Given the description of an element on the screen output the (x, y) to click on. 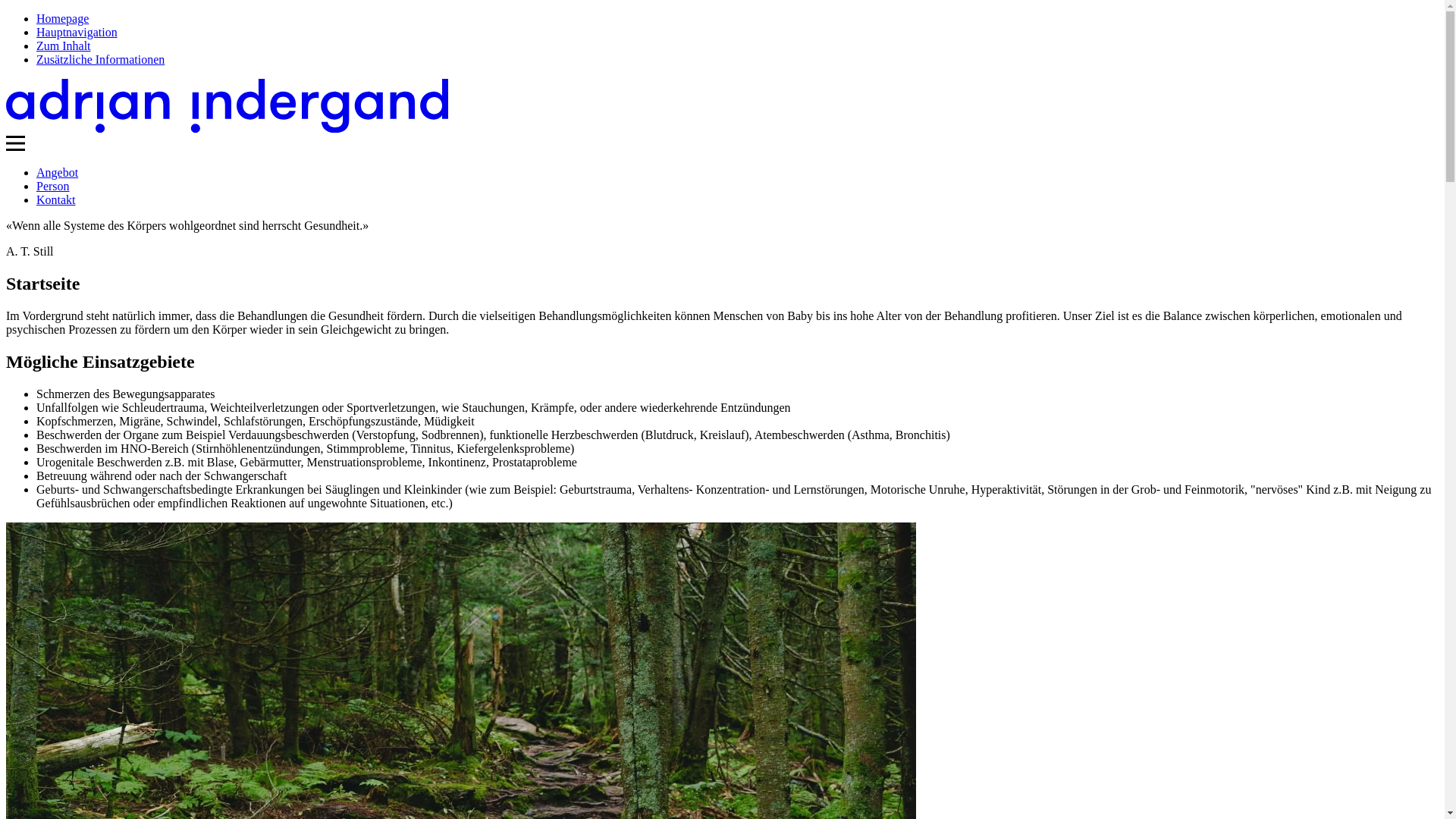
Angebot Element type: text (57, 172)
Person Element type: text (52, 185)
Kontakt Element type: text (55, 199)
Zum Inhalt Element type: text (63, 45)
Homepage Element type: text (62, 18)
Hauptnavigation Element type: text (76, 31)
